Given the description of an element on the screen output the (x, y) to click on. 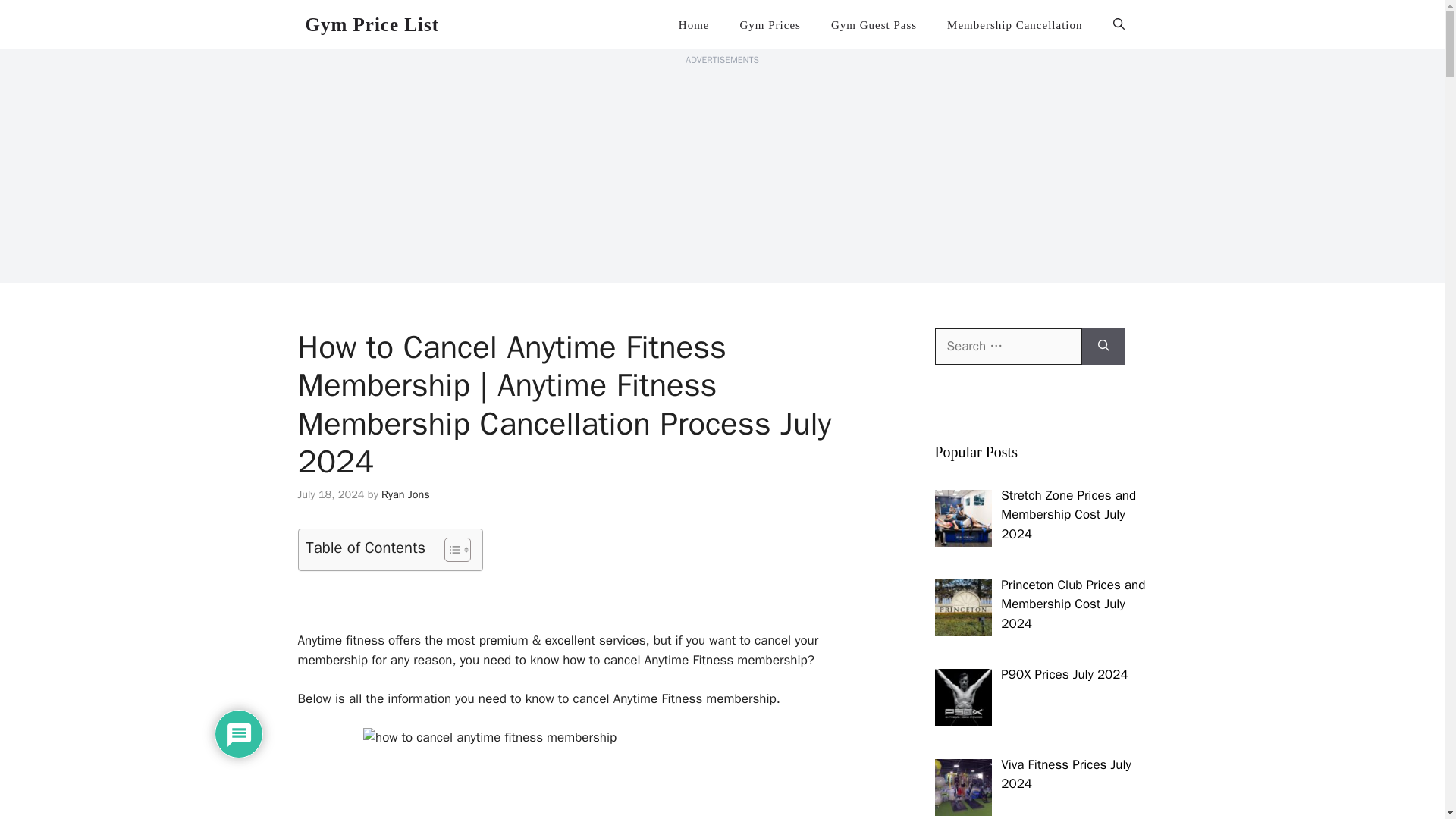
Home (694, 23)
Gym Guest Pass (873, 23)
Cancel Anytime Fitness Membership (578, 599)
Gym Price List (371, 24)
ADVERTISEMENTS (721, 60)
View all posts by Ryan Jons (405, 494)
Gym Prices (770, 23)
Membership Cancellation (1014, 23)
Ryan Jons (405, 494)
